Given the description of an element on the screen output the (x, y) to click on. 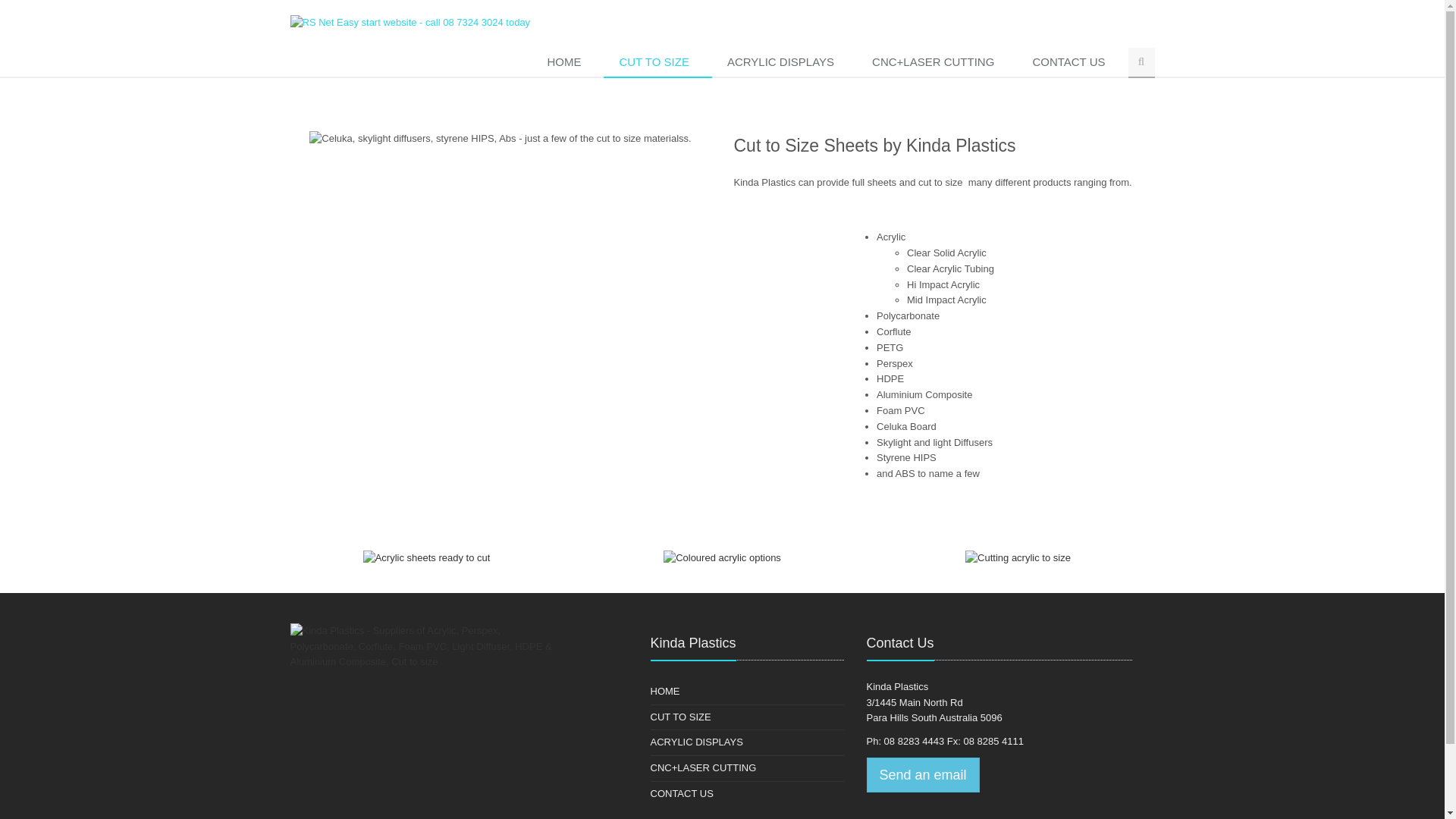
ACRYLIC DISPLAYS Element type: text (696, 742)
HOME Element type: text (665, 691)
ACRYLIC DISPLAYS Element type: text (784, 62)
Send an email Element type: text (922, 774)
CONTACT US Element type: text (1071, 62)
Coloured acrylic options Element type: hover (722, 558)
CUT TO SIZE Element type: text (680, 717)
Cutting acrylic to size Element type: hover (1017, 558)
HOME Element type: text (567, 62)
RS Net Easy start website - call  08 7324 3024 today Element type: hover (409, 23)
Acrylic sheets ready to cut Element type: hover (426, 558)
CNC+LASER CUTTING Element type: text (936, 62)
CUT TO SIZE Element type: text (657, 62)
CNC+LASER CUTTING Element type: text (703, 768)
CONTACT US Element type: text (681, 793)
